Given the description of an element on the screen output the (x, y) to click on. 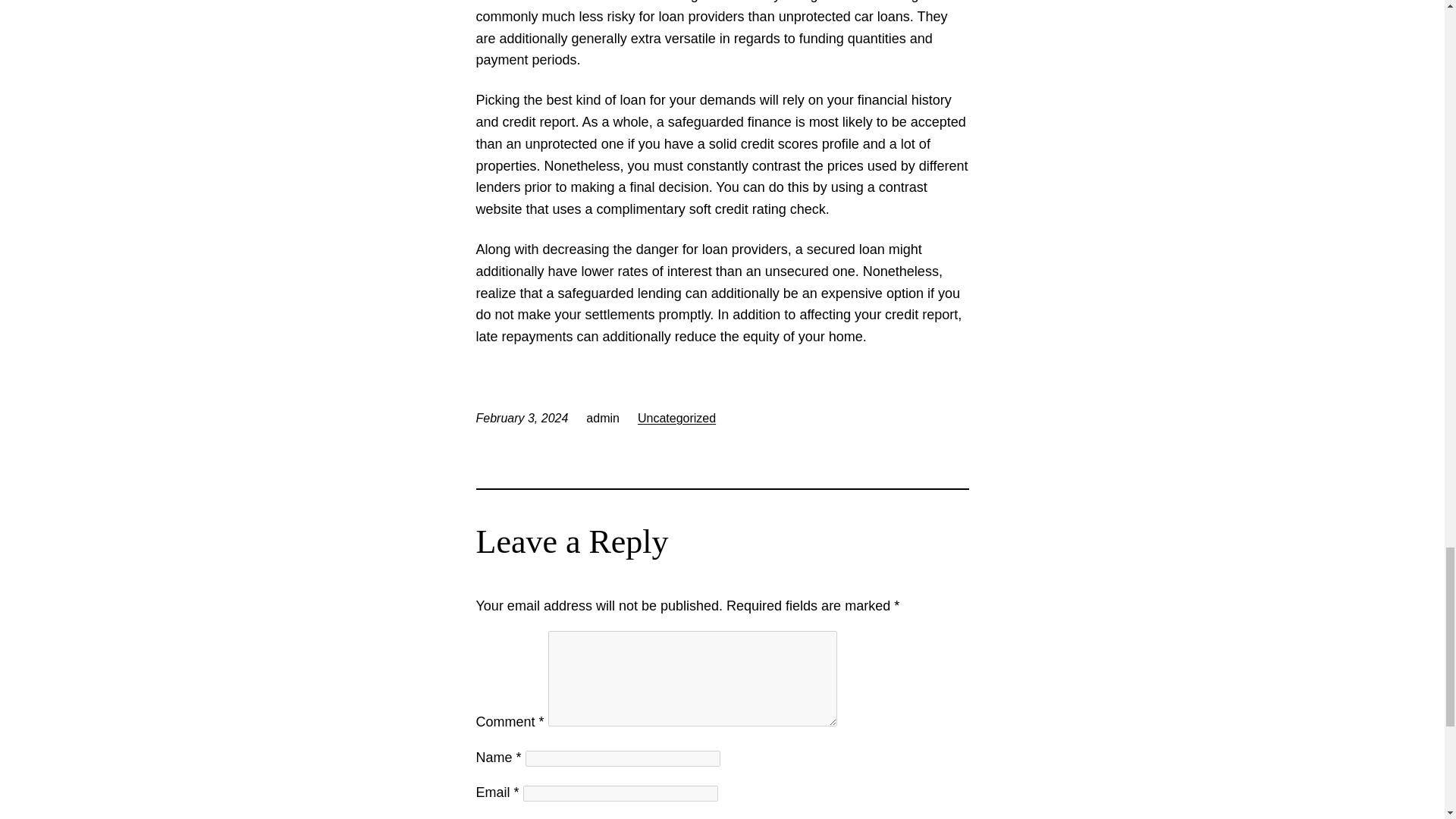
Uncategorized (676, 418)
